Given the description of an element on the screen output the (x, y) to click on. 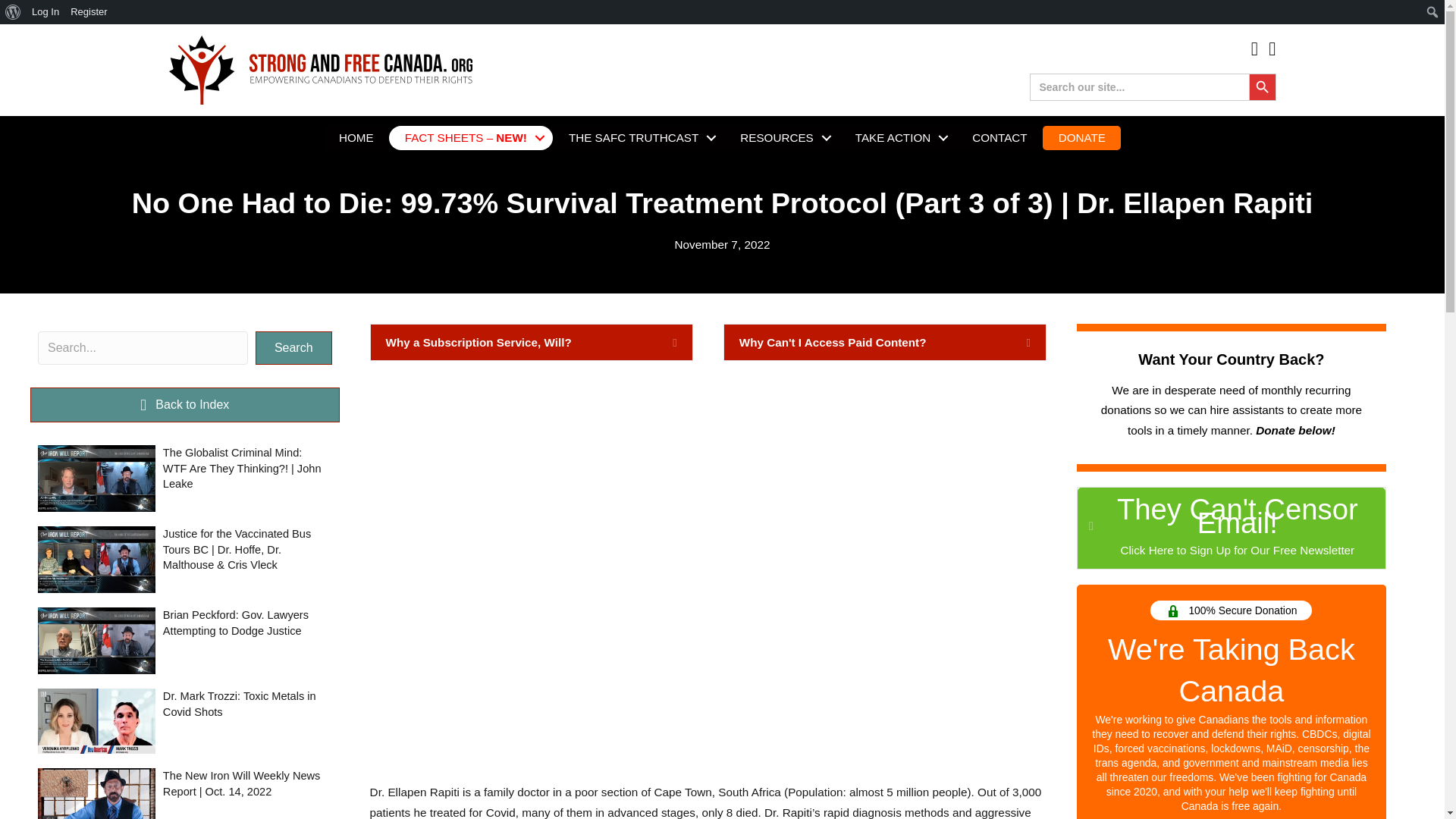
Search (16, 12)
John Leake THUMBNAIL (96, 478)
October 14 featured image (96, 793)
TAKE ACTION (898, 137)
CONTACT (999, 137)
SAFC Empowering logo horizontal (319, 70)
Brian Peckford Still (96, 640)
Search Button (1261, 86)
RESOURCES (781, 137)
HOME (355, 137)
Brian Peckford: Gov. Lawyers Attempting to Dodge Justice (184, 639)
Dr. Mark Trozzi: Toxic Metals in Covid Shots (184, 720)
Register (89, 12)
DONATE (1082, 137)
THE SAFC TRUTHCAST (638, 137)
